Given the description of an element on the screen output the (x, y) to click on. 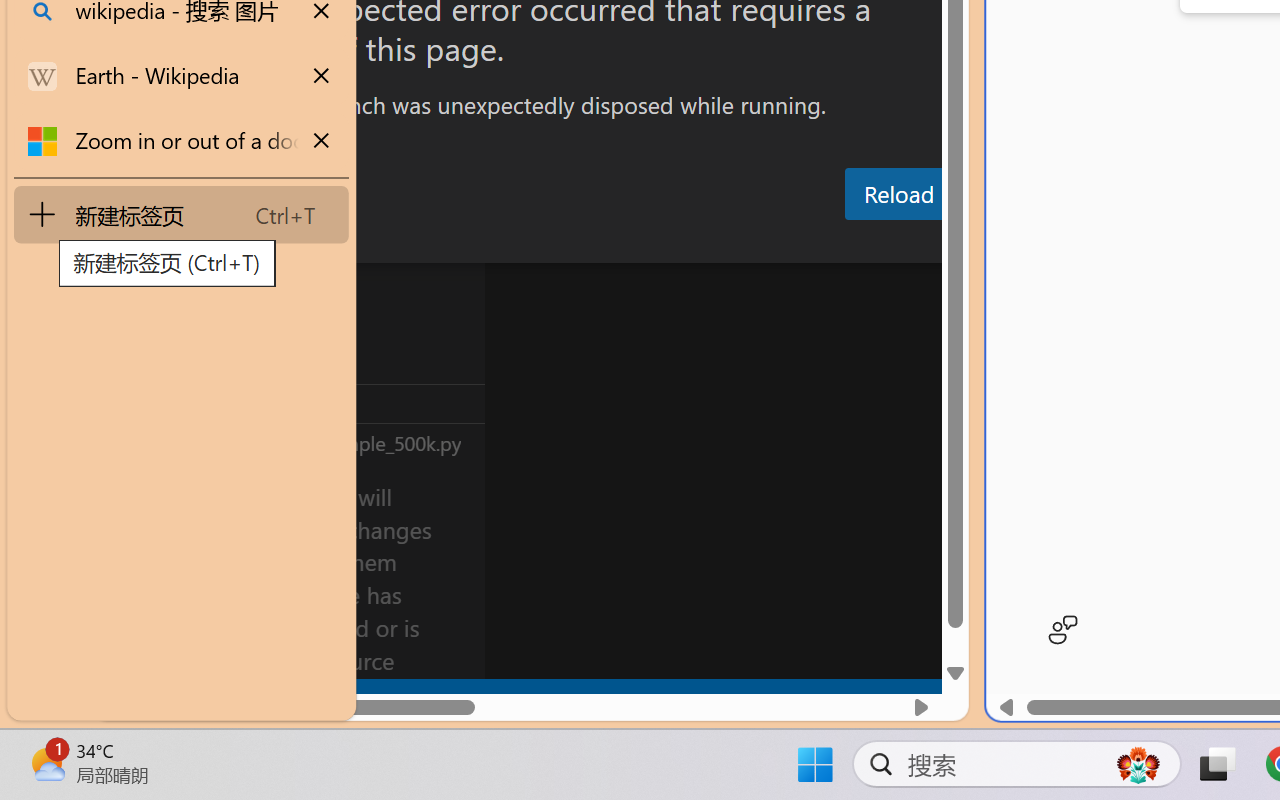
Debug Console (Ctrl+Shift+Y) (854, 243)
Outline Section (331, 403)
No Problems (212, 698)
remote (122, 698)
Timeline Section (331, 442)
Output (Ctrl+Shift+U) (696, 243)
Reload (898, 193)
Terminal (Ctrl+`) (1021, 243)
